Given the description of an element on the screen output the (x, y) to click on. 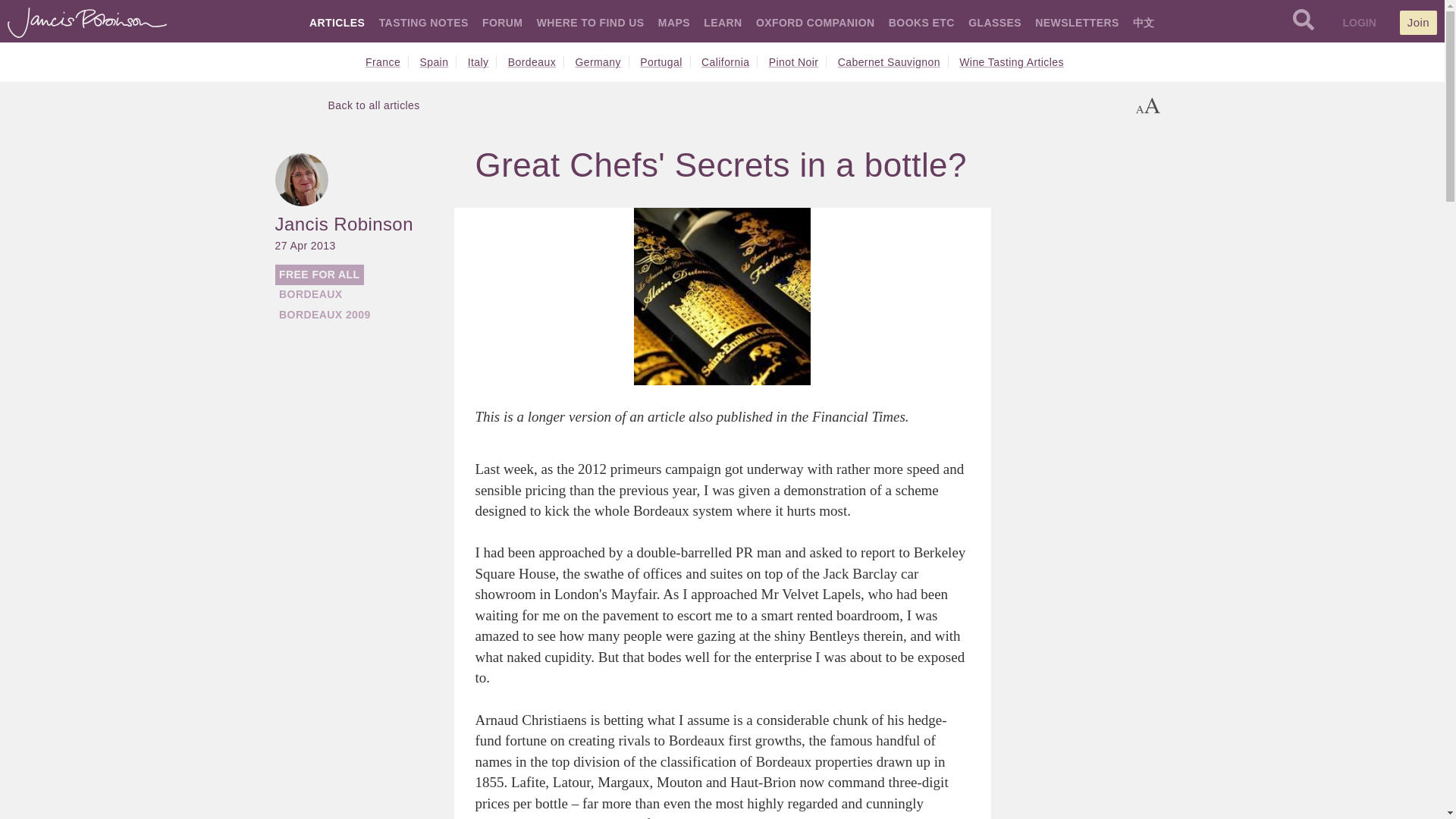
Bordeaux (536, 61)
Chinese language articles (1143, 22)
Resize (1148, 105)
Cabernet Sauvignon Articles (893, 61)
Germany (601, 61)
GLASSES (995, 22)
BOOKS ETC (921, 22)
Jancis Robinson Newsletters (1076, 22)
NEWSLETTERS (1076, 22)
Portugal (665, 61)
